Given the description of an element on the screen output the (x, y) to click on. 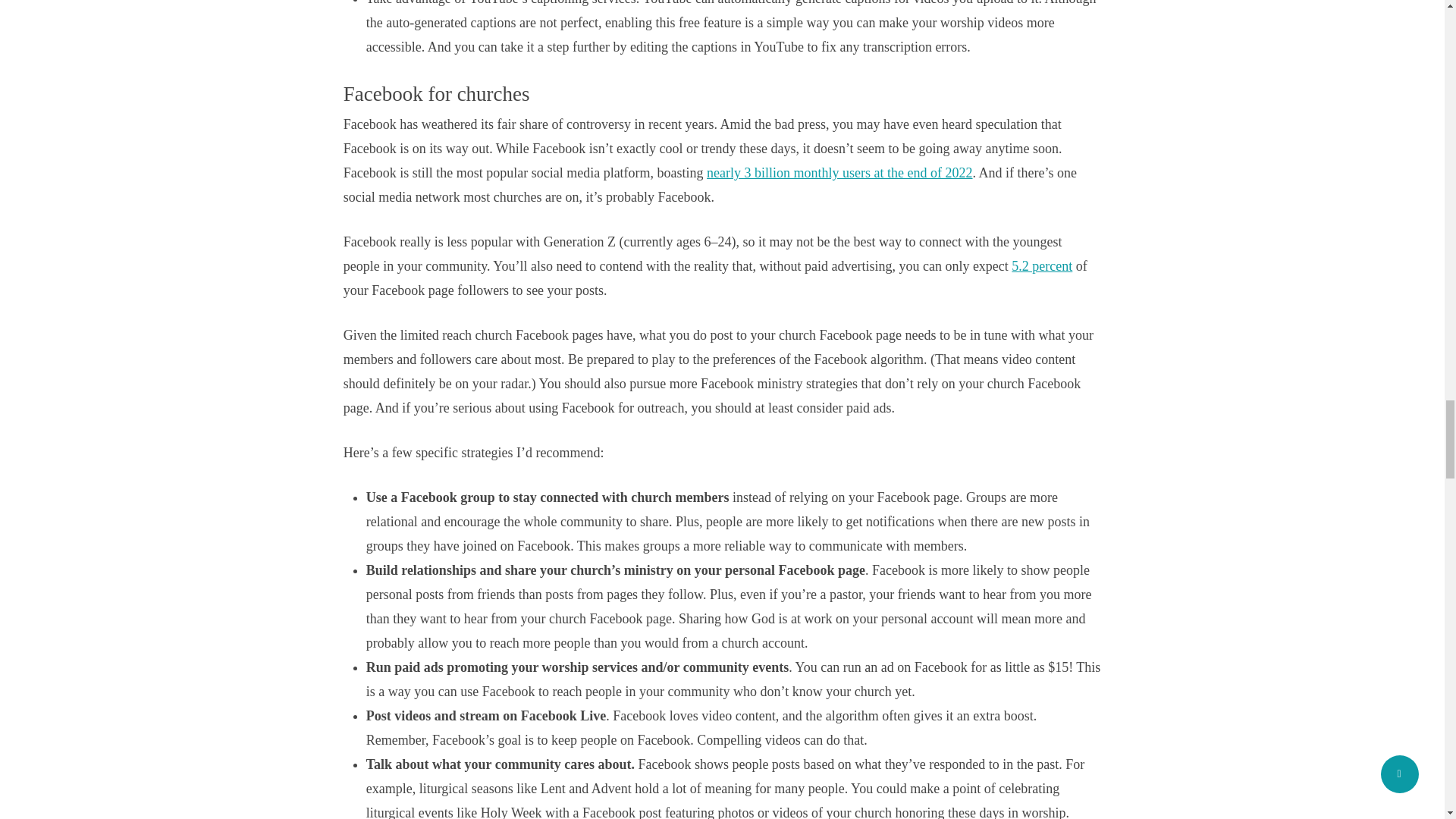
nearly 3 billion monthly users at the end of 2022 (839, 172)
5.2 percent (1041, 265)
